Given the description of an element on the screen output the (x, y) to click on. 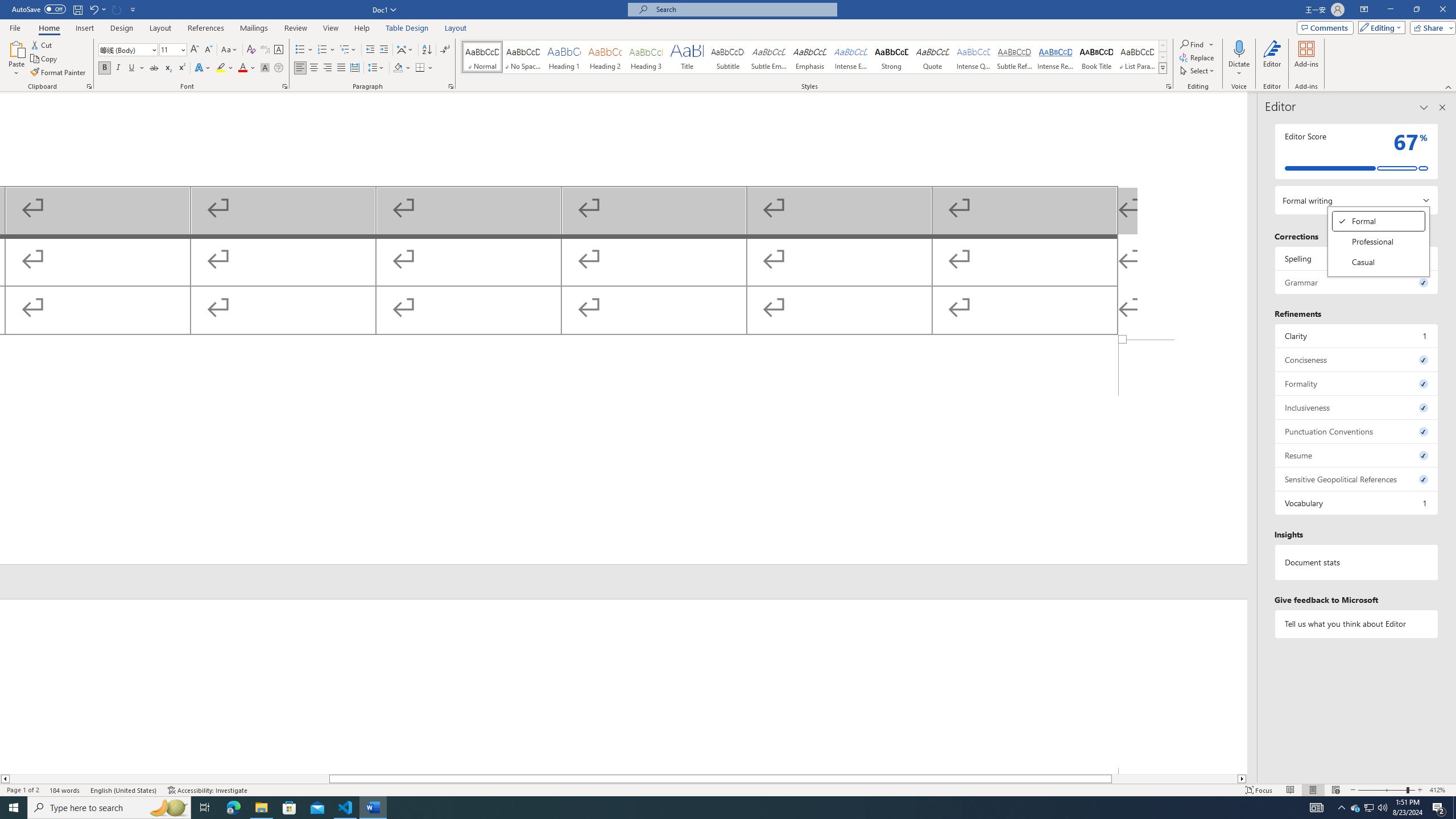
Footer -Section 1- (623, 452)
Intense Emphasis (849, 56)
Book Title (1095, 56)
Type here to search (108, 807)
